Given the description of an element on the screen output the (x, y) to click on. 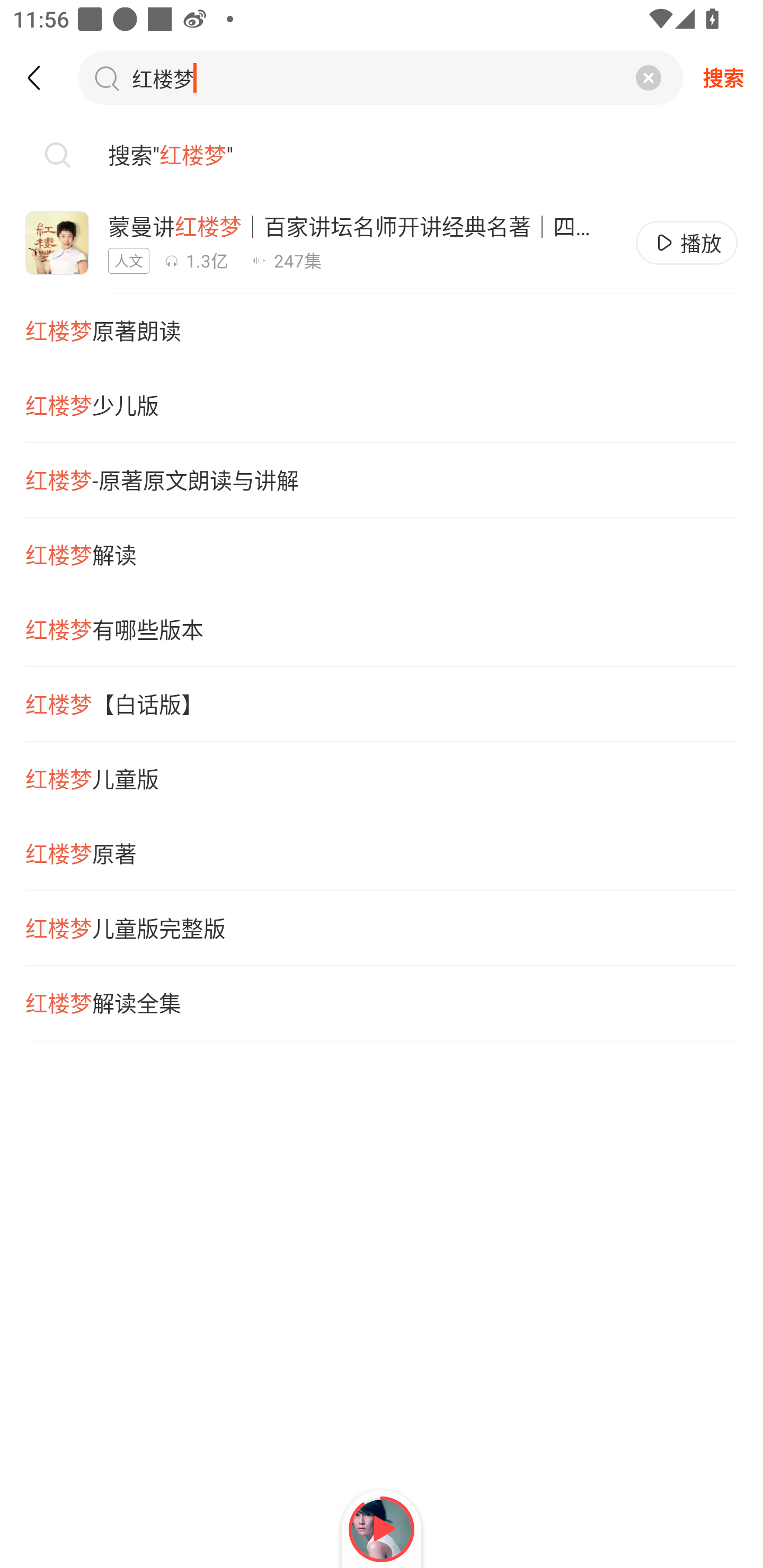
返回 (43, 77)
已经选择搜索功能,当前搜索框内容为红楼梦 红楼梦 清除搜索内容 (380, 77)
清除搜索内容 (648, 77)
搜索 (723, 77)
红楼梦 (175, 77)
  搜索"红楼梦"  (381, 154)
图标 蒙曼讲红楼梦｜百家讲坛名师开讲经典名著｜四大名著 人文 1.3亿 247集 播放或暂停 播放 (381, 242)
播放或暂停 播放 (686, 242)
红楼梦原著朗读 (381, 330)
红楼梦少儿版 (381, 405)
红楼梦-原著原文朗读与讲解 (381, 479)
红楼梦解读 (381, 554)
红楼梦有哪些版本 (381, 629)
红楼梦【白话版】 (381, 703)
红楼梦儿童版 (381, 778)
红楼梦原著 (381, 853)
红楼梦儿童版完整版 (381, 927)
红楼梦解读全集 (381, 1003)
